Given the description of an element on the screen output the (x, y) to click on. 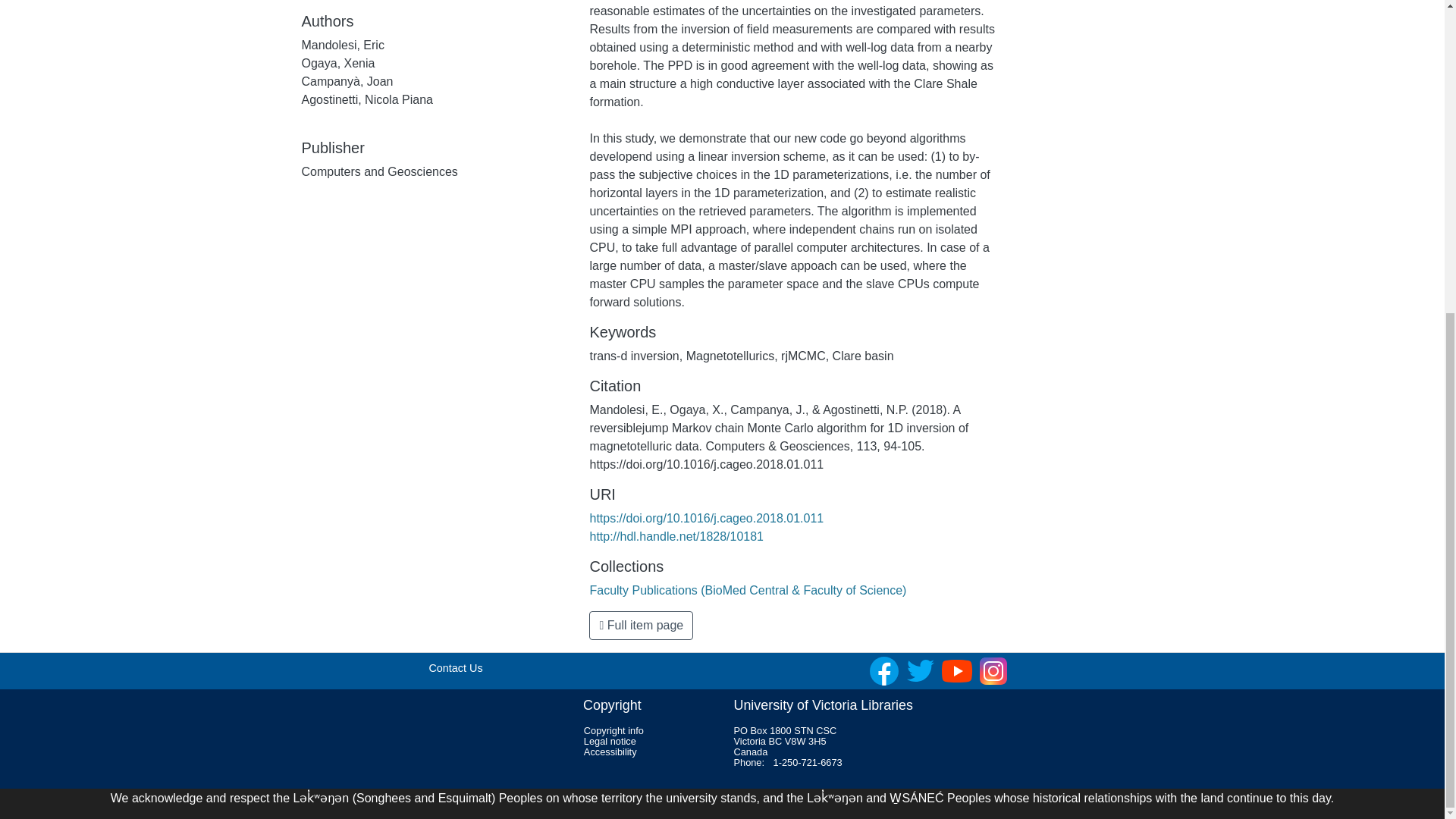
Contact Us (454, 667)
Full item page (641, 624)
